Given the description of an element on the screen output the (x, y) to click on. 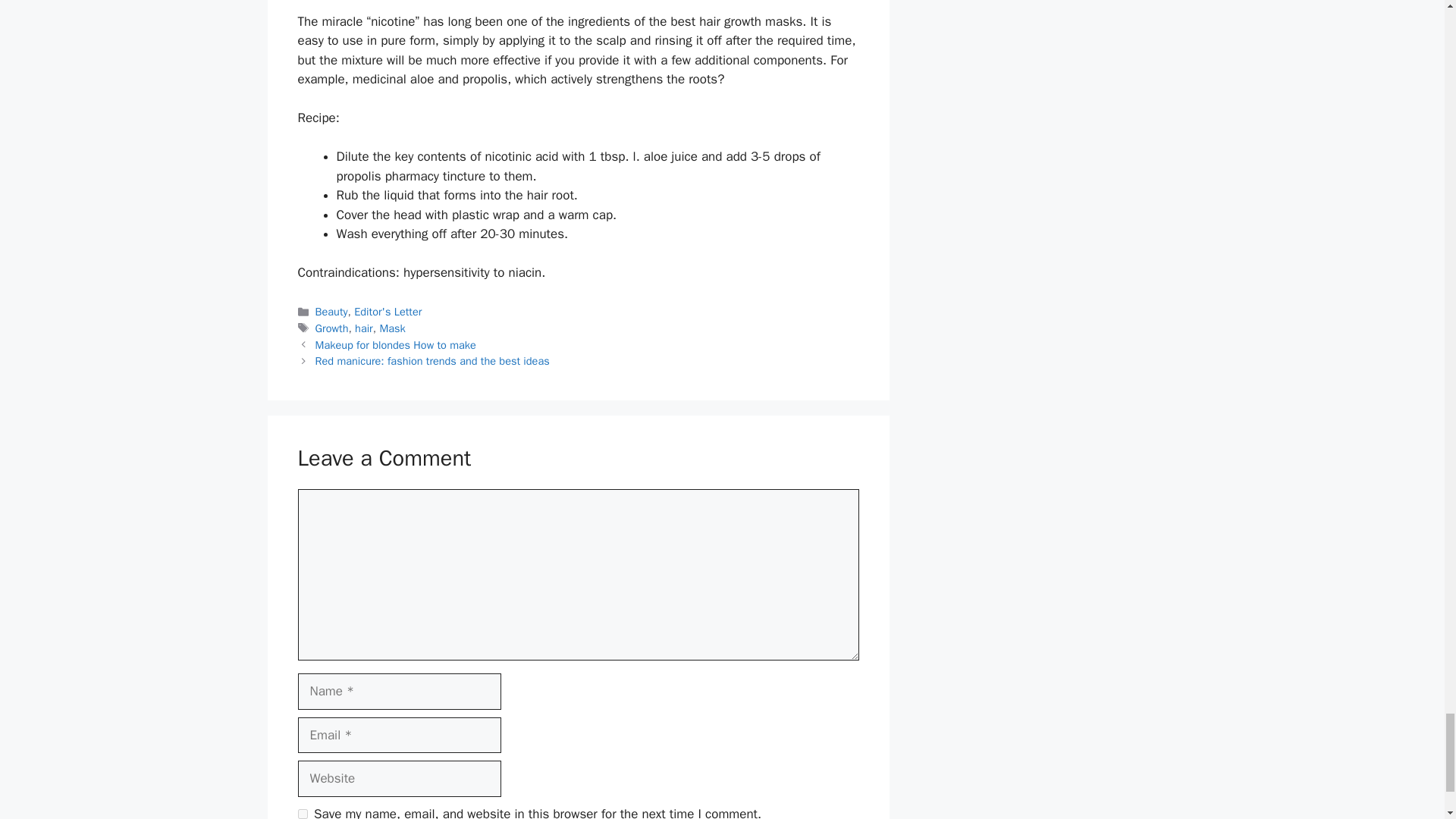
Next (432, 360)
Previous (395, 345)
yes (302, 814)
Red manicure: fashion trends and the best ideas (432, 360)
Makeup for blondes How to make (395, 345)
hair (363, 327)
Growth (332, 327)
Beauty (331, 311)
Mask (391, 327)
Editor's Letter (387, 311)
